Given the description of an element on the screen output the (x, y) to click on. 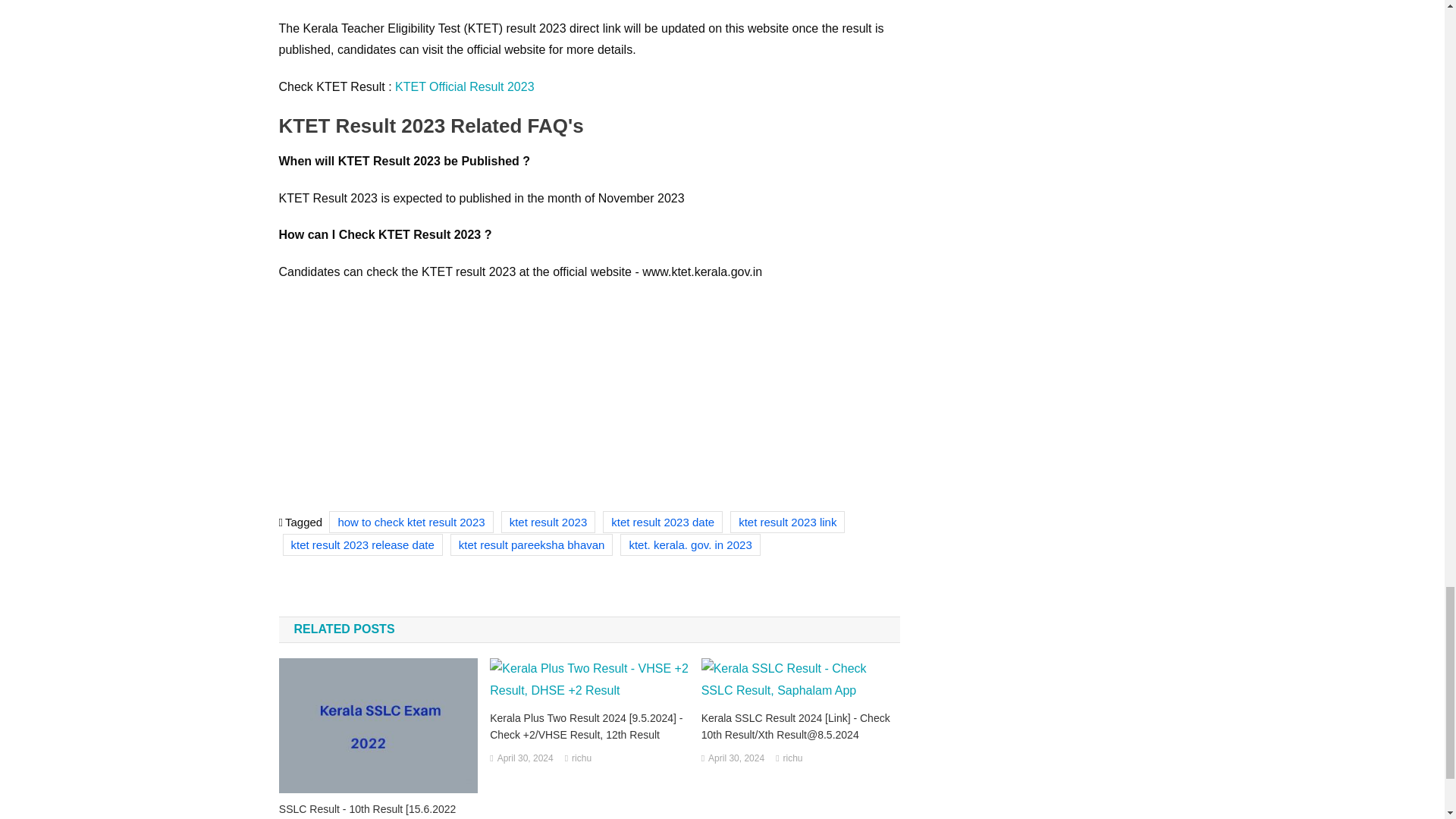
KTET Official Result 2023 (464, 86)
April 30, 2024 (735, 759)
ktet. kerala. gov. in 2023 (690, 544)
ktet result 2023 link (787, 522)
richu (581, 759)
richu (793, 759)
ktet result 2023 date (662, 522)
April 30, 2024 (525, 759)
ktet result 2023 (547, 522)
how to check ktet result 2023 (411, 522)
